Given the description of an element on the screen output the (x, y) to click on. 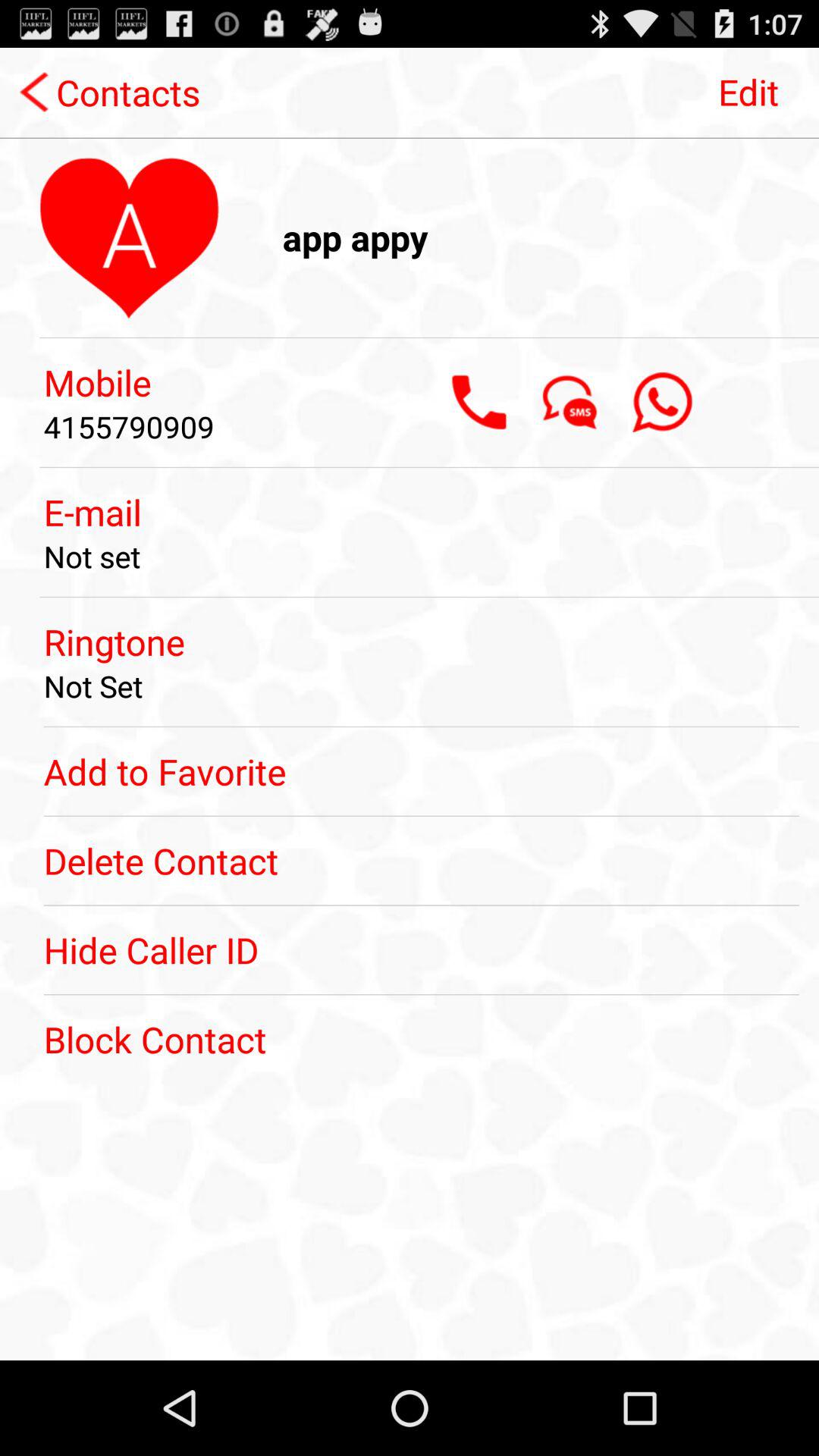
call (479, 402)
